Given the description of an element on the screen output the (x, y) to click on. 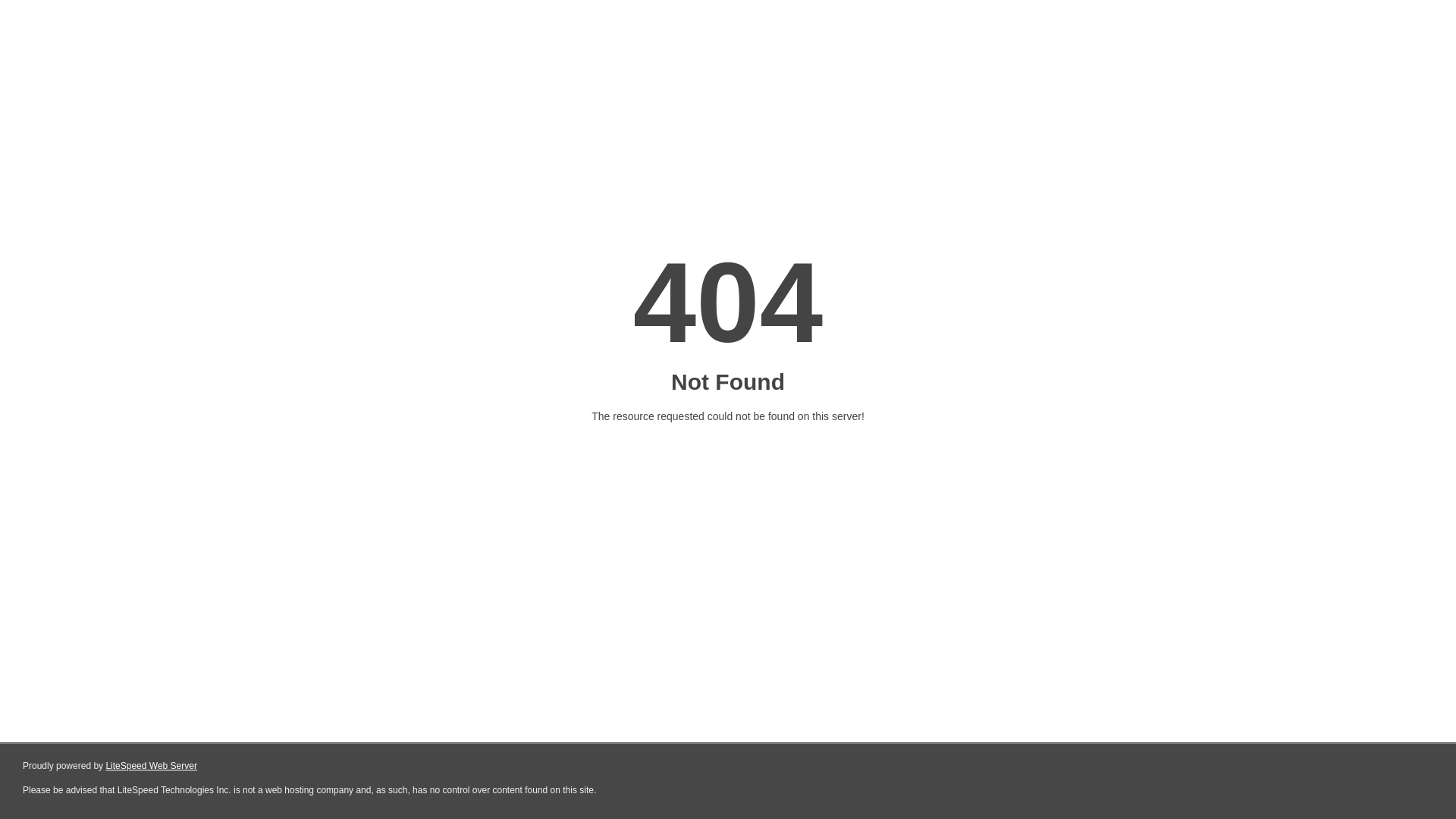
LiteSpeed Web Server Element type: text (151, 765)
